Given the description of an element on the screen output the (x, y) to click on. 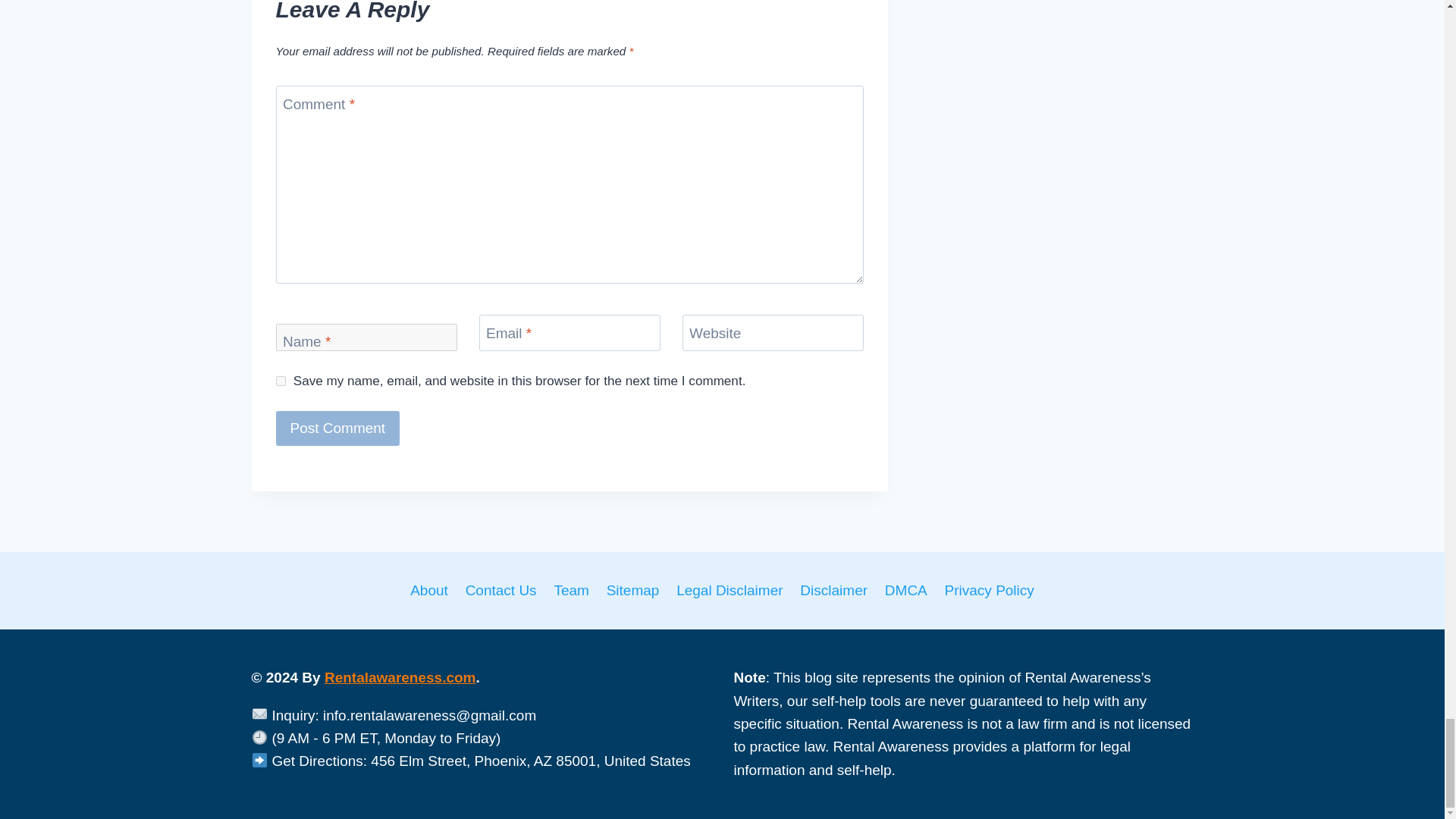
yes (280, 380)
Post Comment (338, 428)
